Given the description of an element on the screen output the (x, y) to click on. 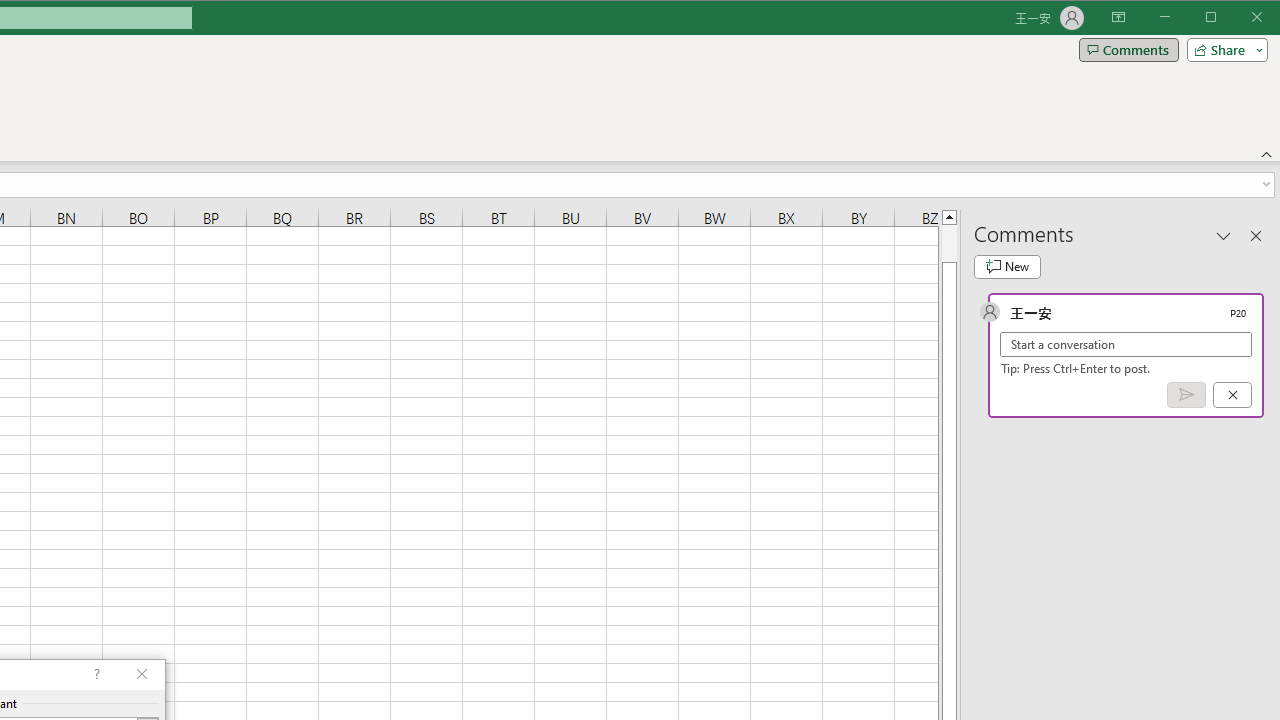
New comment (1007, 266)
Start a conversation (1126, 344)
Maximize (1239, 18)
Cancel (1232, 395)
Post comment (Ctrl + Enter) (1186, 395)
